Given the description of an element on the screen output the (x, y) to click on. 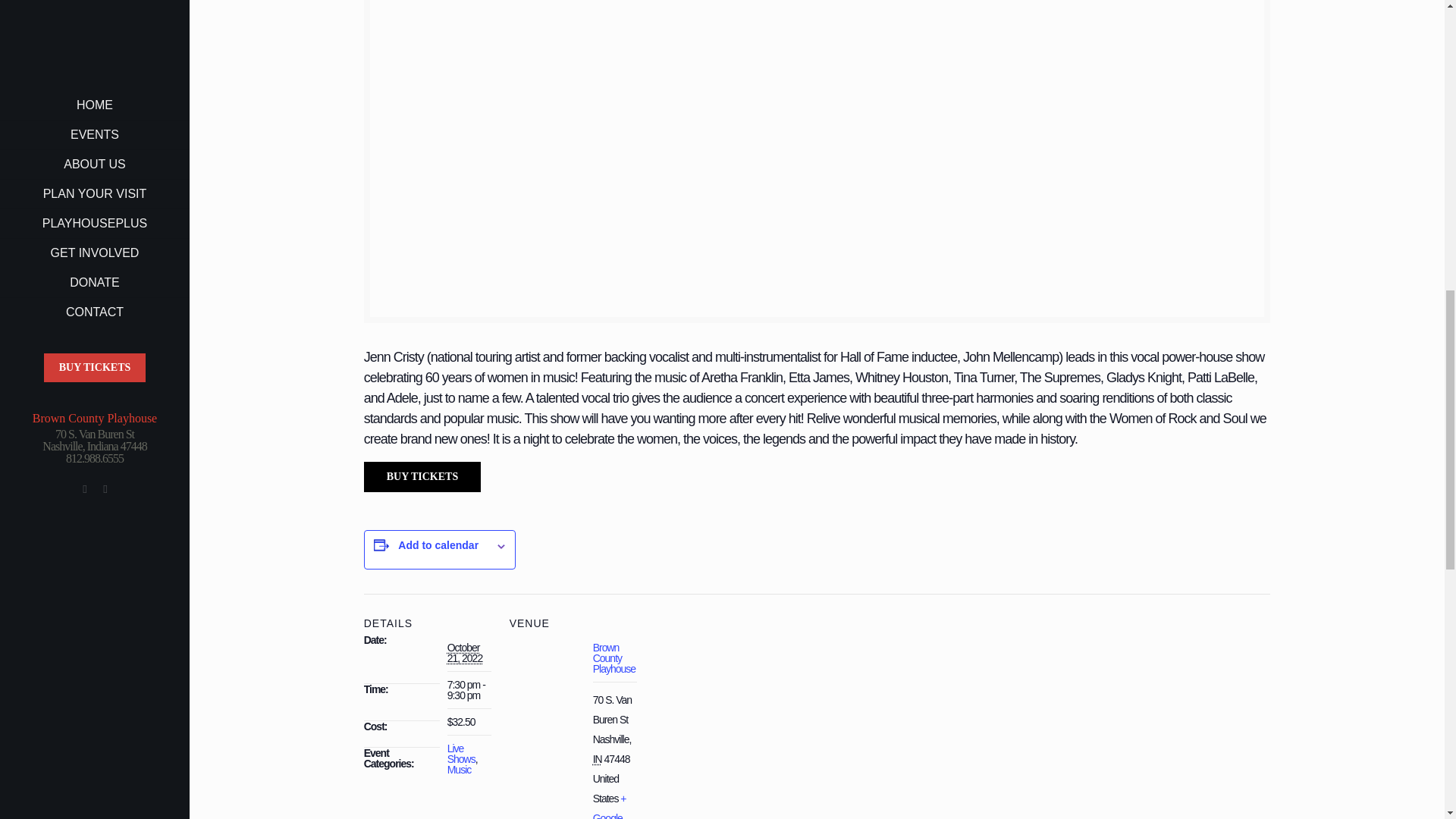
2022-10-21 (464, 652)
BUY TICKETS (422, 476)
Add to calendar (438, 544)
2022-10-21 (469, 690)
Click to view a Google Map (609, 805)
